Given the description of an element on the screen output the (x, y) to click on. 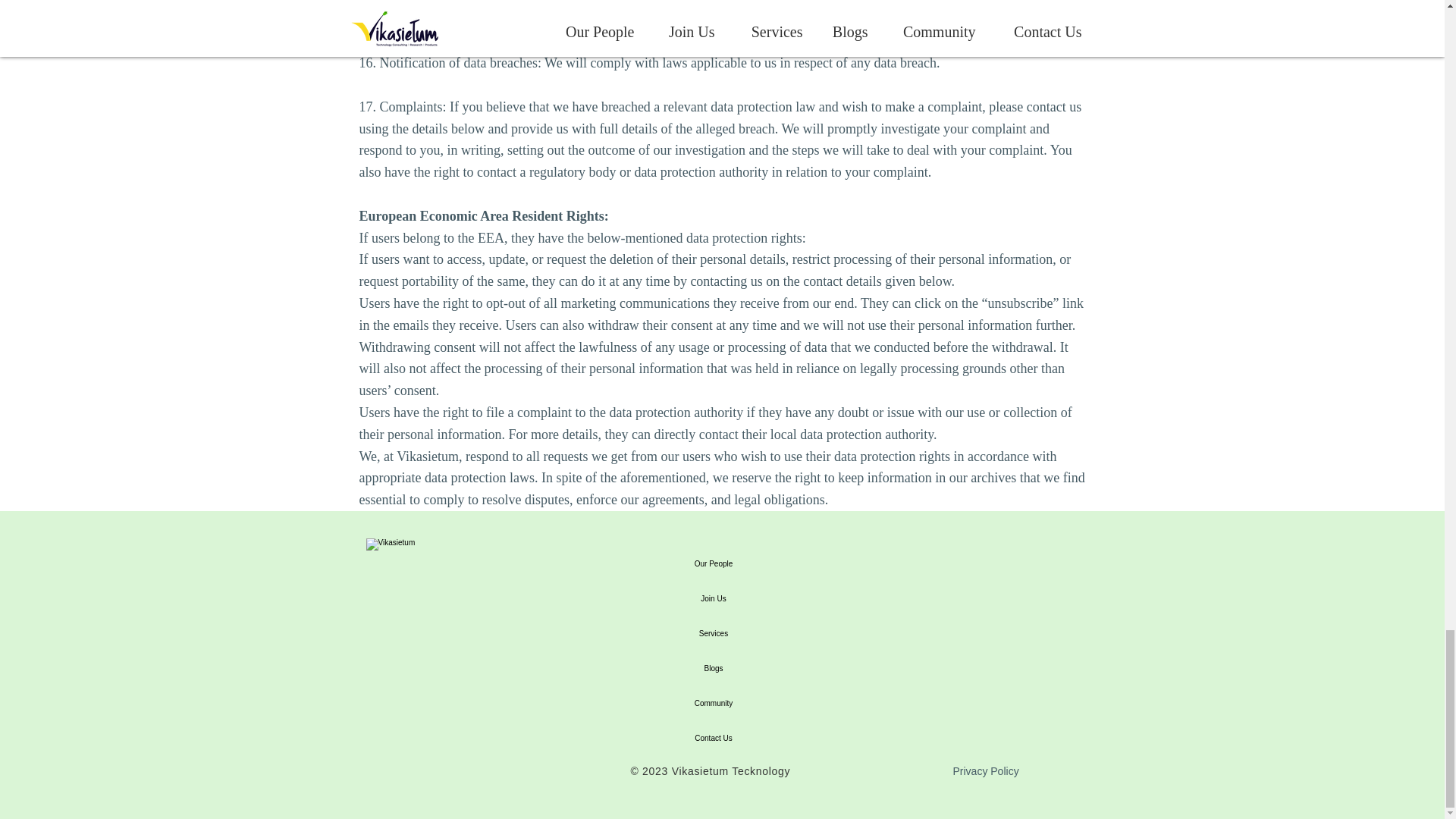
Privacy Policy (984, 770)
Our People (713, 564)
Services (713, 633)
Blogs (713, 668)
Join Us (713, 598)
Community (713, 703)
Contact Us (713, 738)
